Given the description of an element on the screen output the (x, y) to click on. 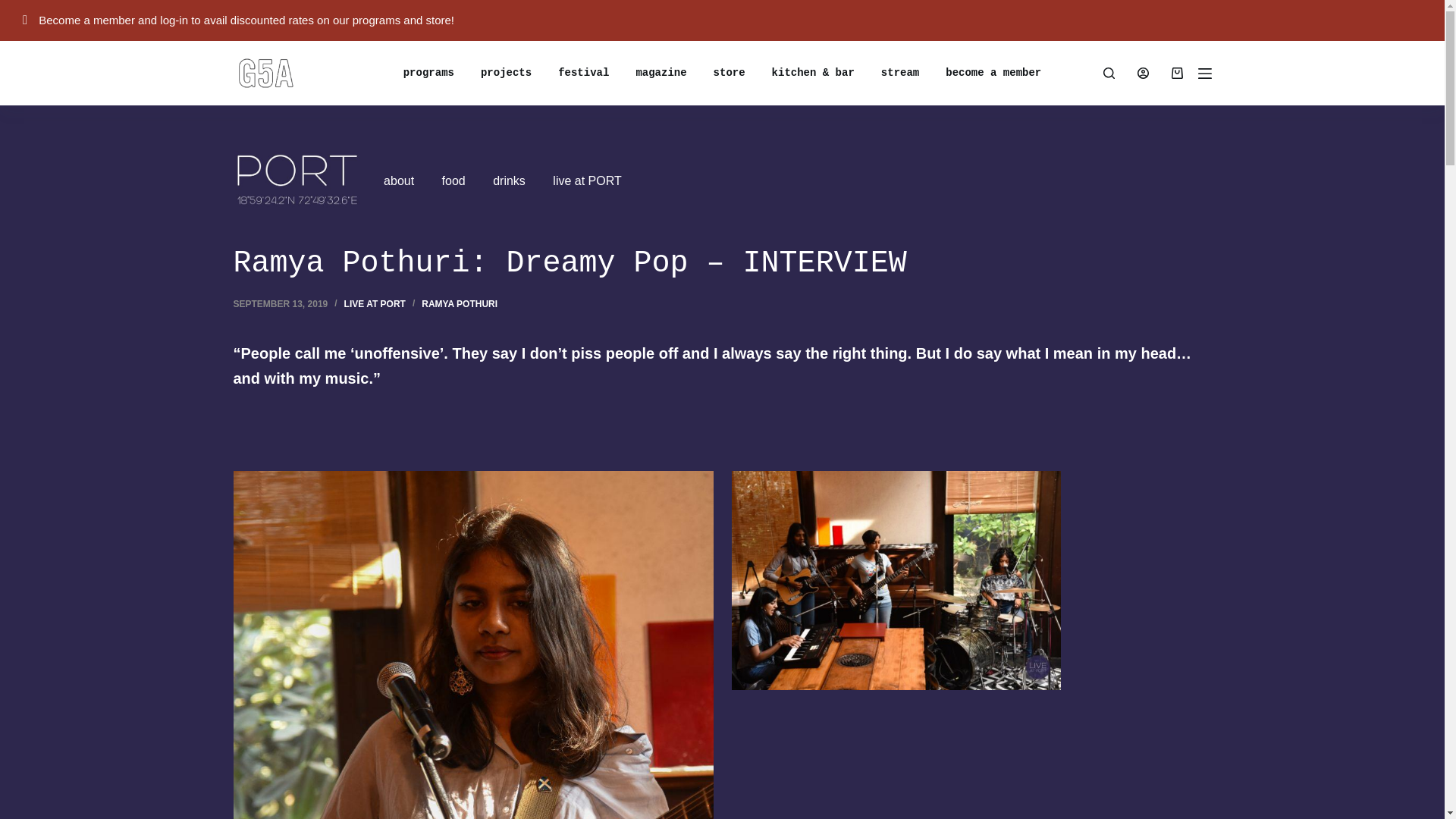
Ramya Pothuri: Dreamy Pop - INTERVIEW 2 - G5A (894, 580)
Skip to content (15, 7)
